Given the description of an element on the screen output the (x, y) to click on. 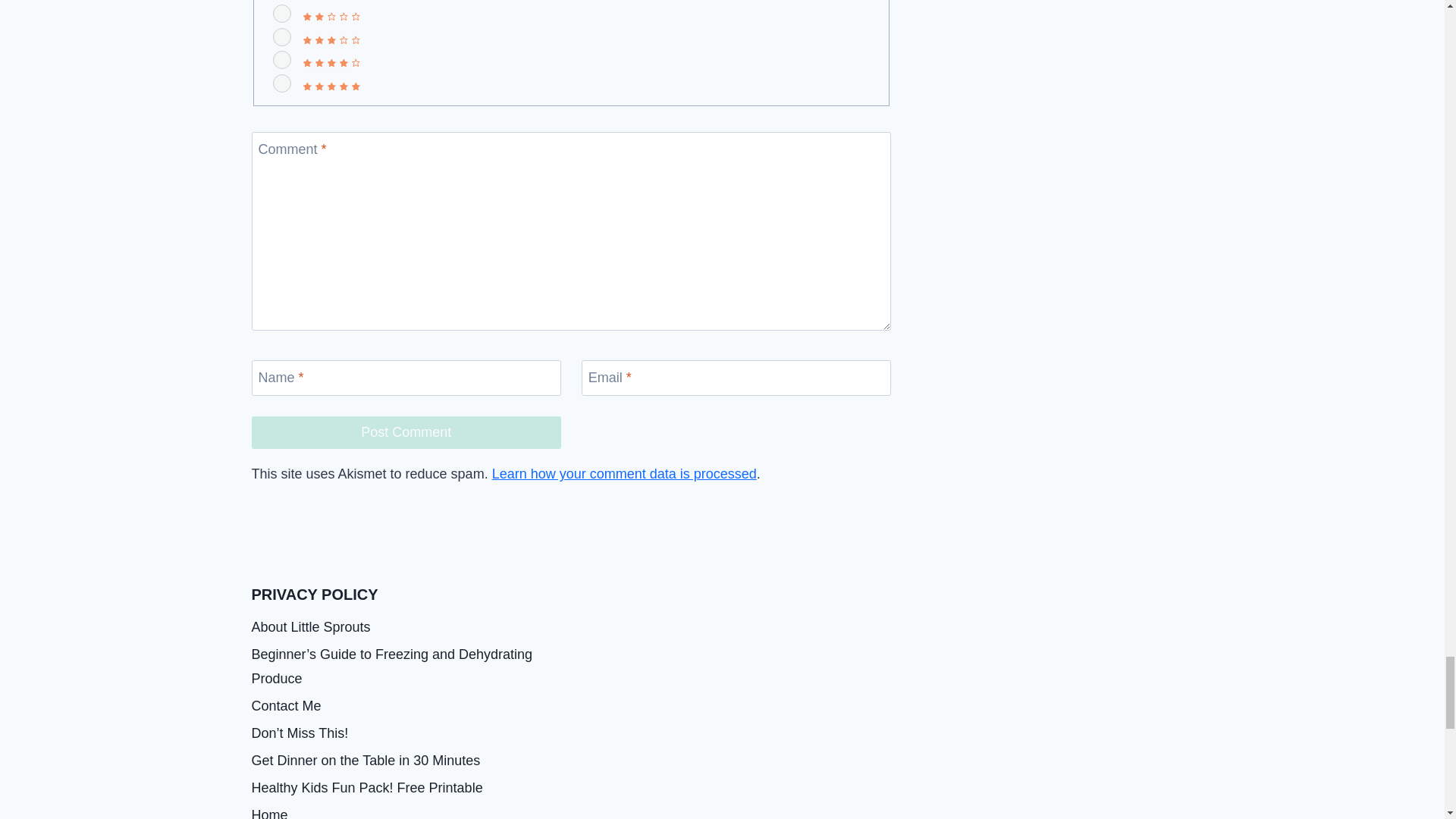
5 (282, 83)
4 (282, 59)
2 (282, 13)
Post Comment (405, 432)
3 (282, 36)
